Given the description of an element on the screen output the (x, y) to click on. 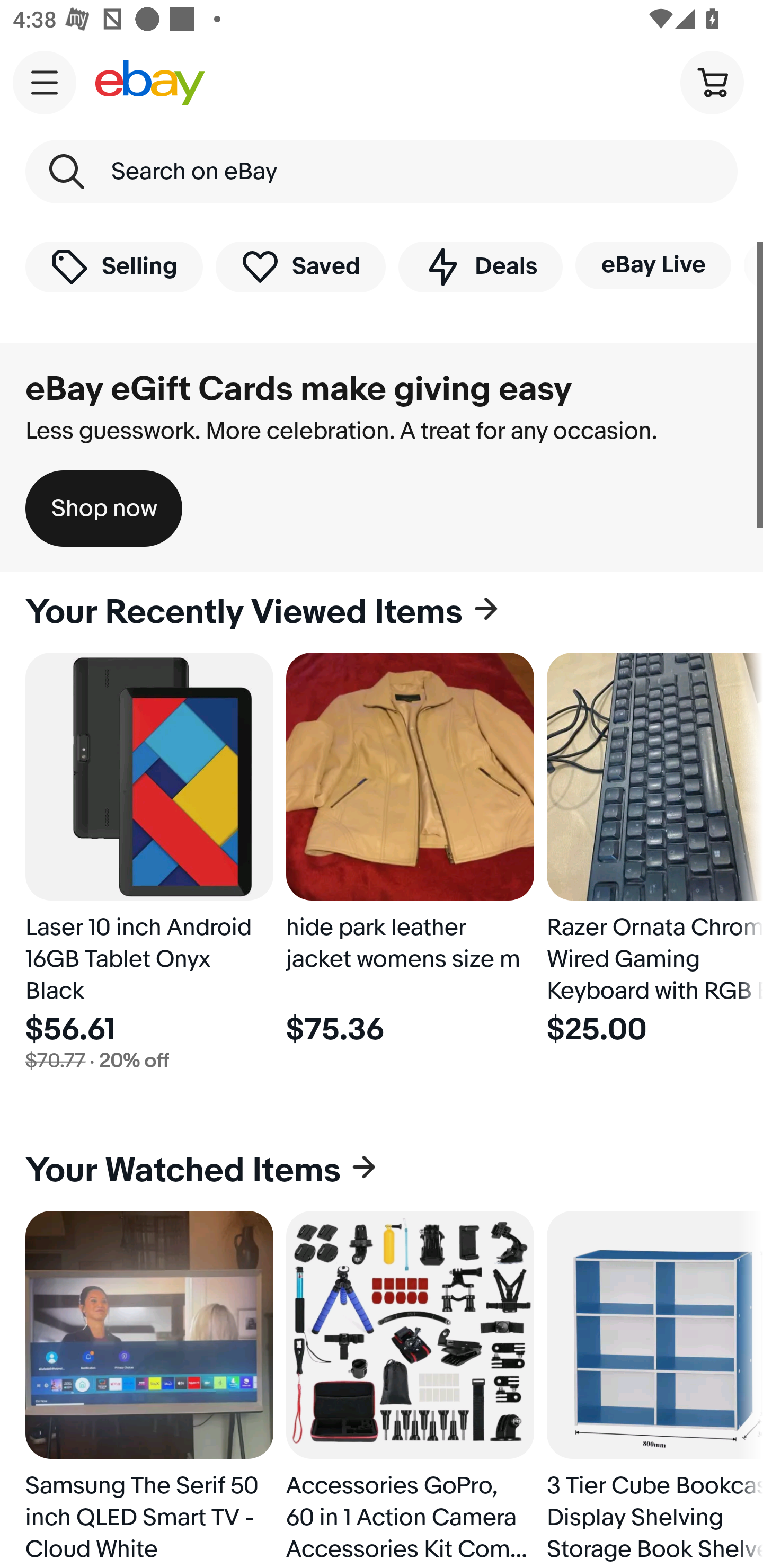
Main navigation, open (44, 82)
Cart button shopping cart (711, 81)
Search on eBay Search Keyword Search on eBay (381, 171)
Selling (113, 266)
Saved (300, 266)
Deals (480, 266)
eBay Live (652, 264)
eBay eGift Cards make giving easy (298, 389)
Shop now (103, 508)
Your Recently Viewed Items   (381, 612)
Your Watched Items   (381, 1170)
